Given the description of an element on the screen output the (x, y) to click on. 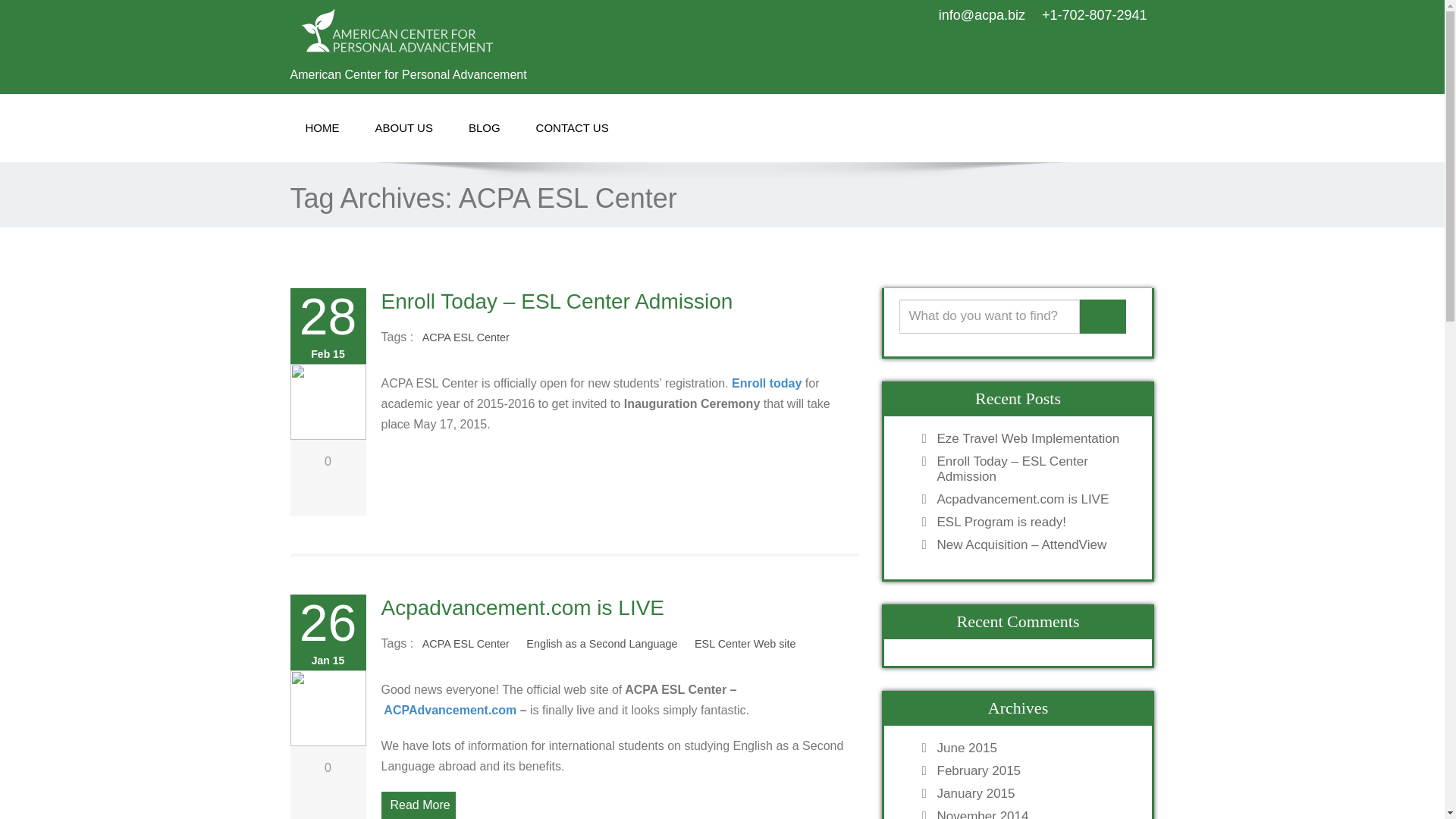
BLOG (483, 128)
Read More (417, 805)
English as a Second Language (601, 643)
ACPAdvancement.com (450, 709)
ACPA (499, 30)
ESL Center Web site (745, 643)
Enroll today (767, 382)
ESL Program is ready! (1033, 522)
Acpadvancement.com is LIVE (1033, 499)
ABOUT US (402, 128)
Home (321, 128)
HOME (321, 128)
February 2015 (1033, 770)
Acpadvancement.com is LIVE (521, 607)
June 2015 (1033, 748)
